Given the description of an element on the screen output the (x, y) to click on. 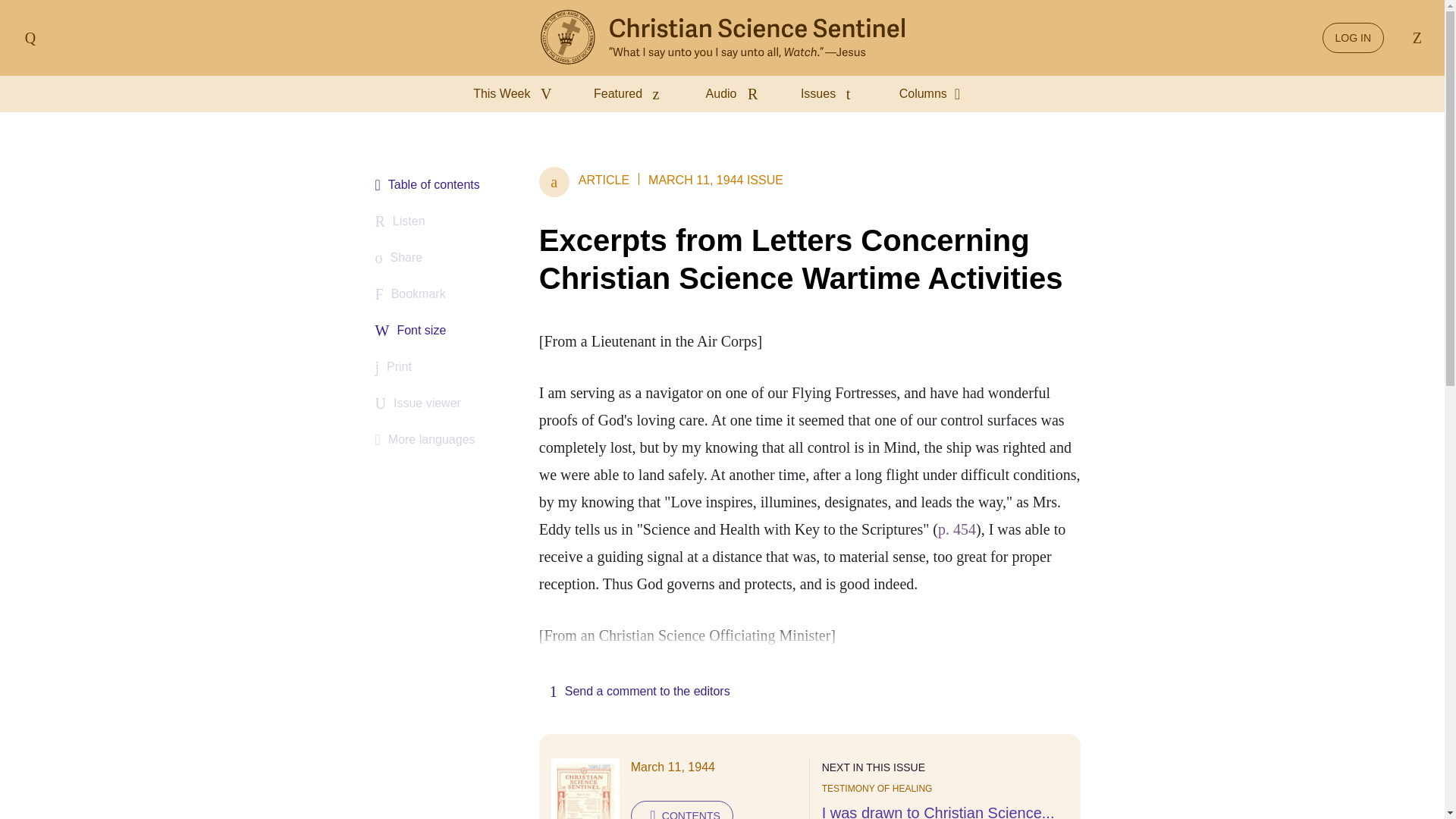
View Sentinel Columns and Sections (934, 94)
LOG IN (1353, 37)
Featured (631, 94)
Featured (631, 94)
Search Modal (1414, 37)
Issues (831, 94)
Audio (735, 94)
Columns (934, 94)
This Week (515, 94)
Christian Science Sentinel (722, 37)
